Given the description of an element on the screen output the (x, y) to click on. 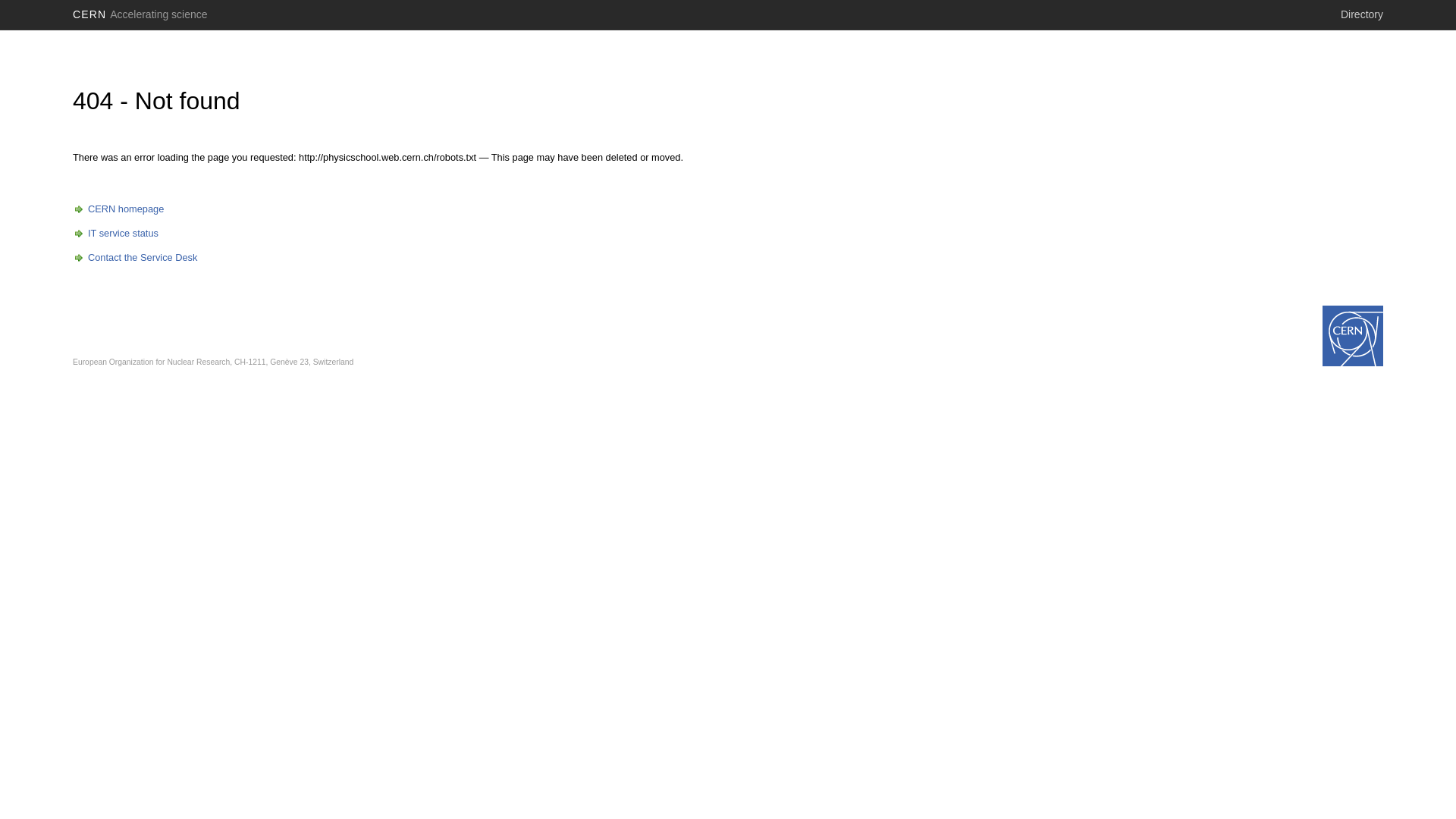
Directory Element type: text (1361, 14)
Contact the Service Desk Element type: text (134, 257)
CERN homepage Element type: text (117, 208)
CERN Accelerating science Element type: text (139, 14)
IT service status Element type: text (115, 232)
www.cern.ch Element type: hover (1352, 335)
